Given the description of an element on the screen output the (x, y) to click on. 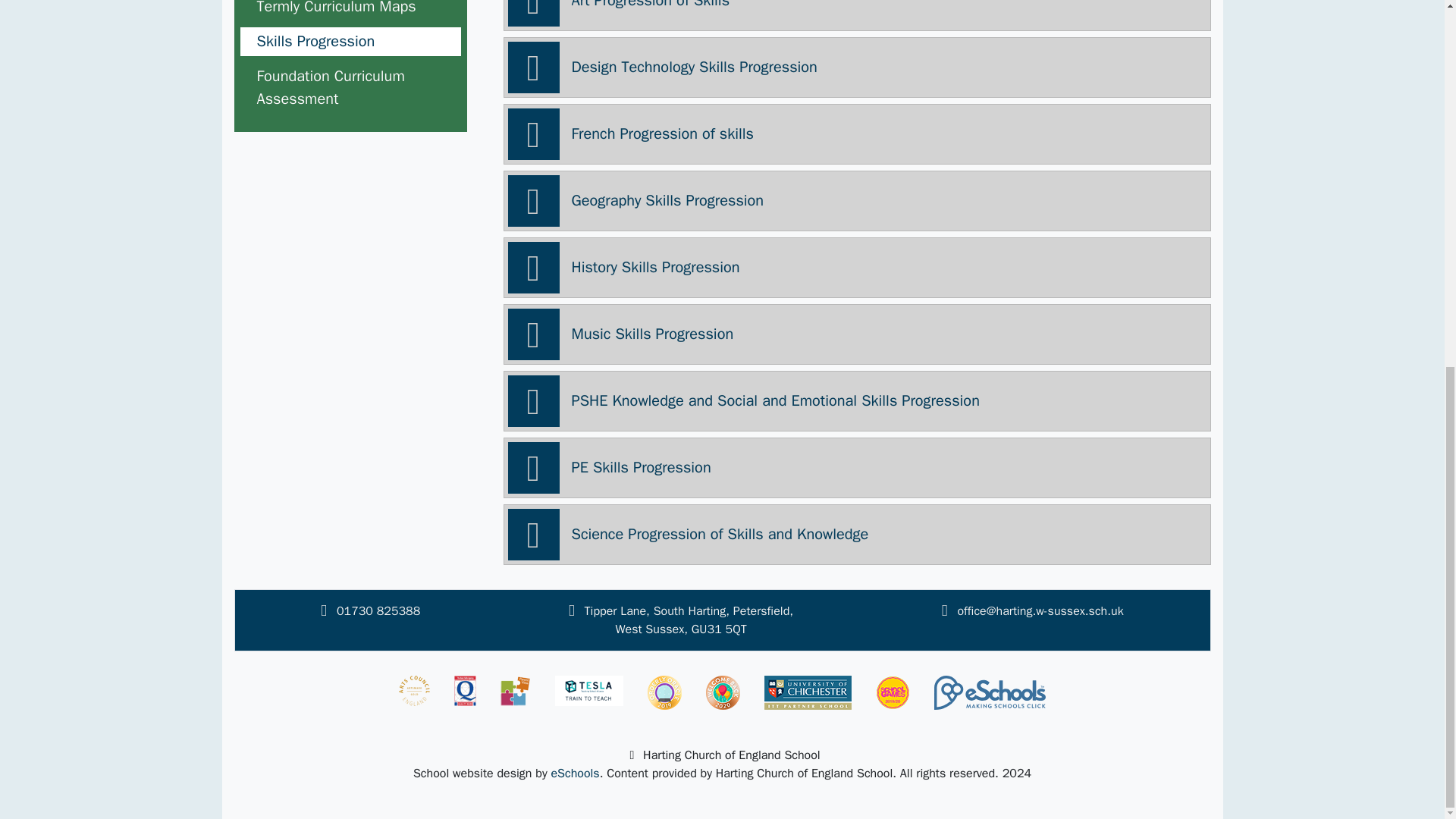
Artsmark Gold Award (413, 690)
Telsa Train to Teach (588, 690)
University of Chichester ITT (807, 692)
School Games 2019-20 (893, 692)
Parent View (515, 690)
